Given the description of an element on the screen output the (x, y) to click on. 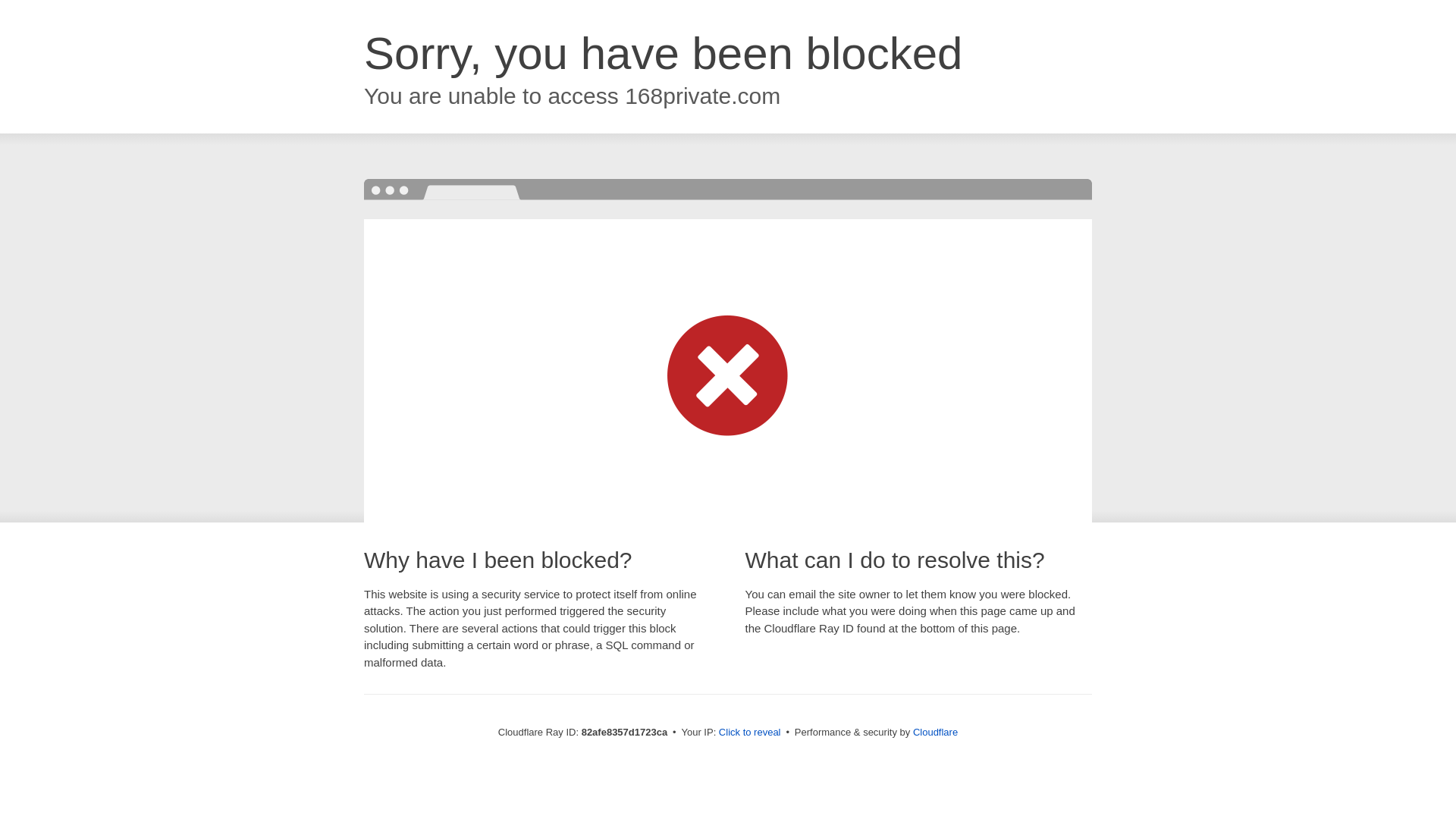
Cloudflare Element type: text (935, 731)
Click to reveal Element type: text (749, 732)
